Given the description of an element on the screen output the (x, y) to click on. 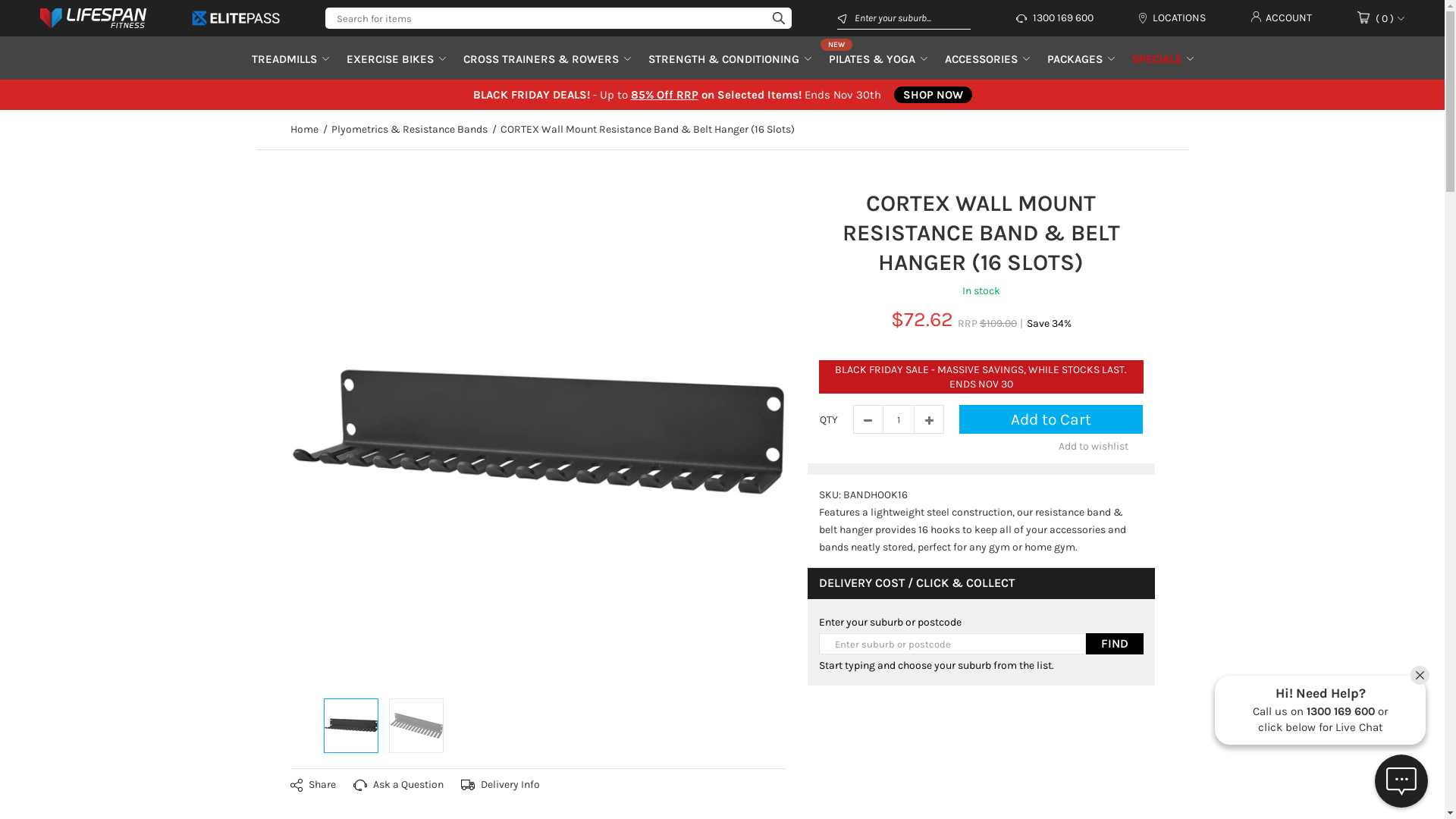
Add to Cart Element type: text (1050, 418)
CORTEX Wall Mount Resistance Band & Belt Hanger (16 Slots) Element type: text (647, 128)
CROSS TRAINERS & ROWERS Element type: text (546, 64)
ACCESSORIES Element type: text (986, 64)
Add to wishlist Element type: text (1093, 446)
( 0 ) Element type: text (1380, 18)
TREADMILLS Element type: text (289, 64)
PILATES & YOGA
NEW Element type: text (877, 64)
  Element type: text (894, 468)
 SHOP NOW  Element type: text (932, 94)
STRENGTH & CONDITIONING Element type: text (729, 64)
Home Element type: text (303, 128)
EXERCISE BIKES Element type: text (395, 64)
Ask a Question Element type: text (398, 788)
SPECIALS Element type: text (1162, 64)
LOCATIONS Element type: text (1172, 17)
Delivery Info Element type: text (500, 788)
Lifespan Fitness Element type: hover (92, 18)
Plyometrics & Resistance Bands Element type: text (408, 128)
1300 169 600 Element type: text (1340, 711)
Share Element type: text (312, 788)
PACKAGES Element type: text (1080, 64)
1300 169 600 Element type: text (1054, 17)
 ACCOUNT Element type: text (1281, 17)
